Given the description of an element on the screen output the (x, y) to click on. 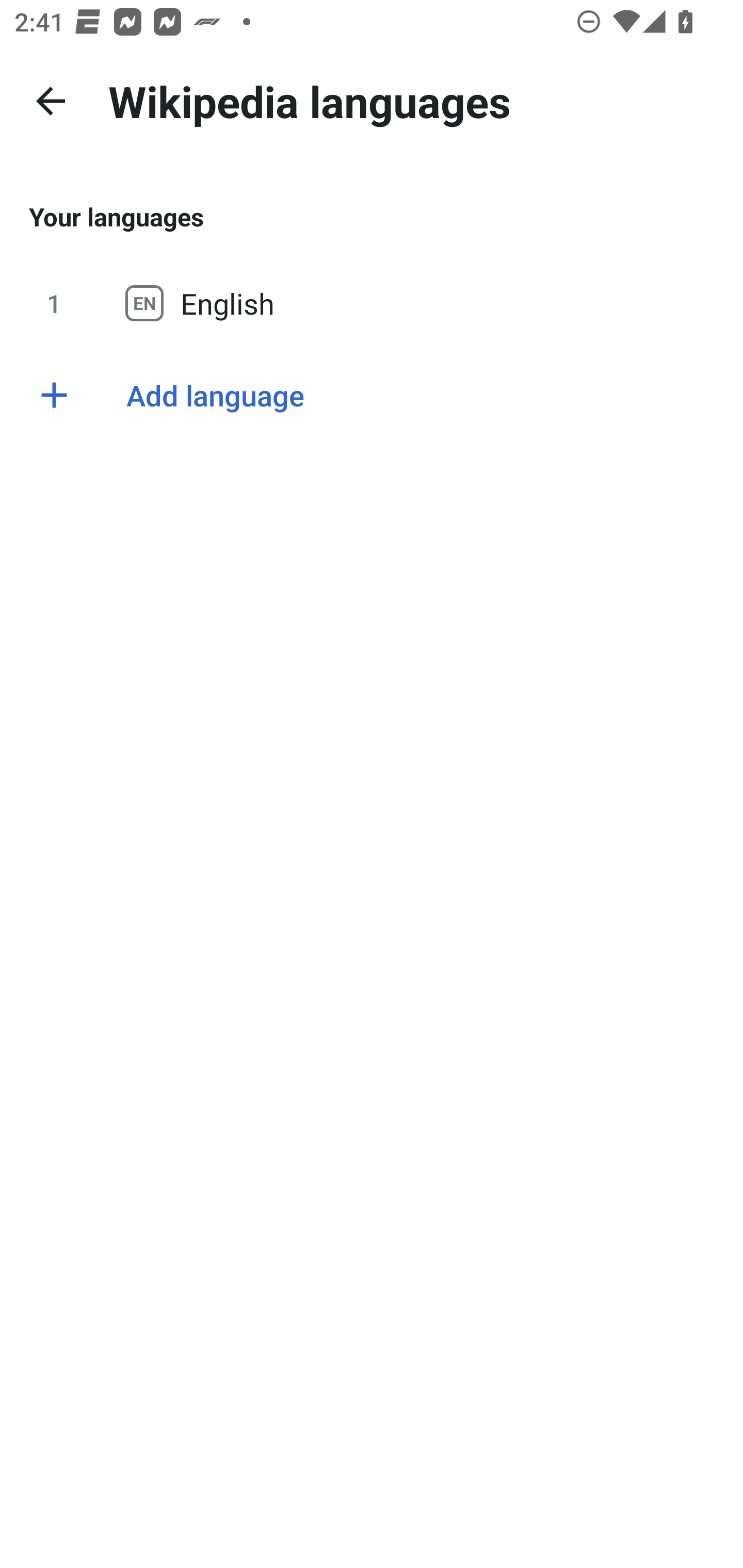
Navigate up (50, 101)
1 EN English (371, 303)
Add language (371, 394)
